Given the description of an element on the screen output the (x, y) to click on. 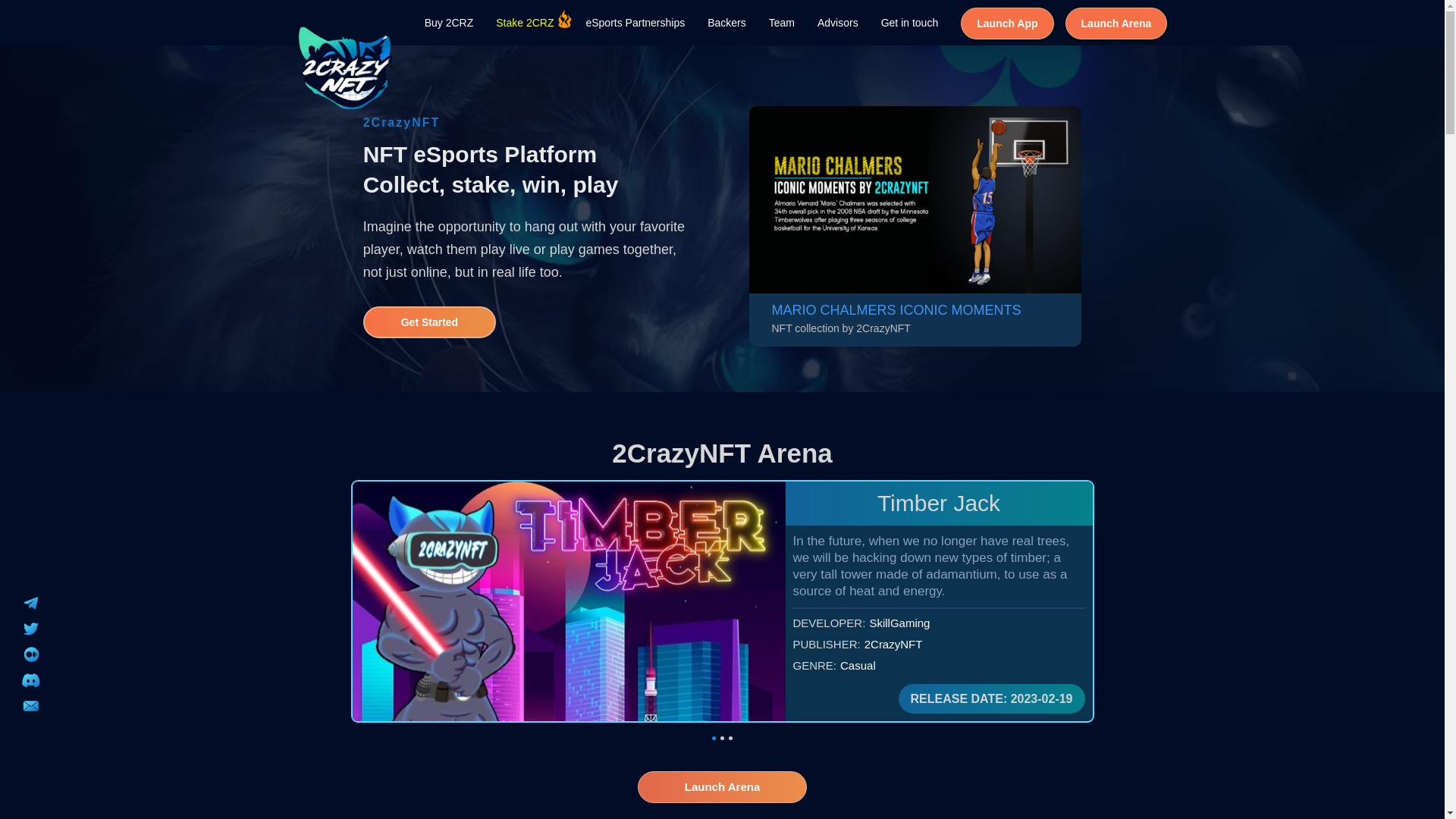
Launch App Element type: text (1006, 23)
eSports Partnerships Element type: text (635, 22)
Buy 2CRZ Element type: text (449, 22)
Advisors Element type: text (837, 22)
Get in touch Element type: text (909, 22)
Team Element type: text (781, 22)
Get Started Element type: text (429, 322)
Stake 2CRZ Element type: text (524, 22)
Launch Arena Element type: text (1116, 23)
Backers Element type: text (726, 22)
Launch Arena Element type: text (721, 787)
